Given the description of an element on the screen output the (x, y) to click on. 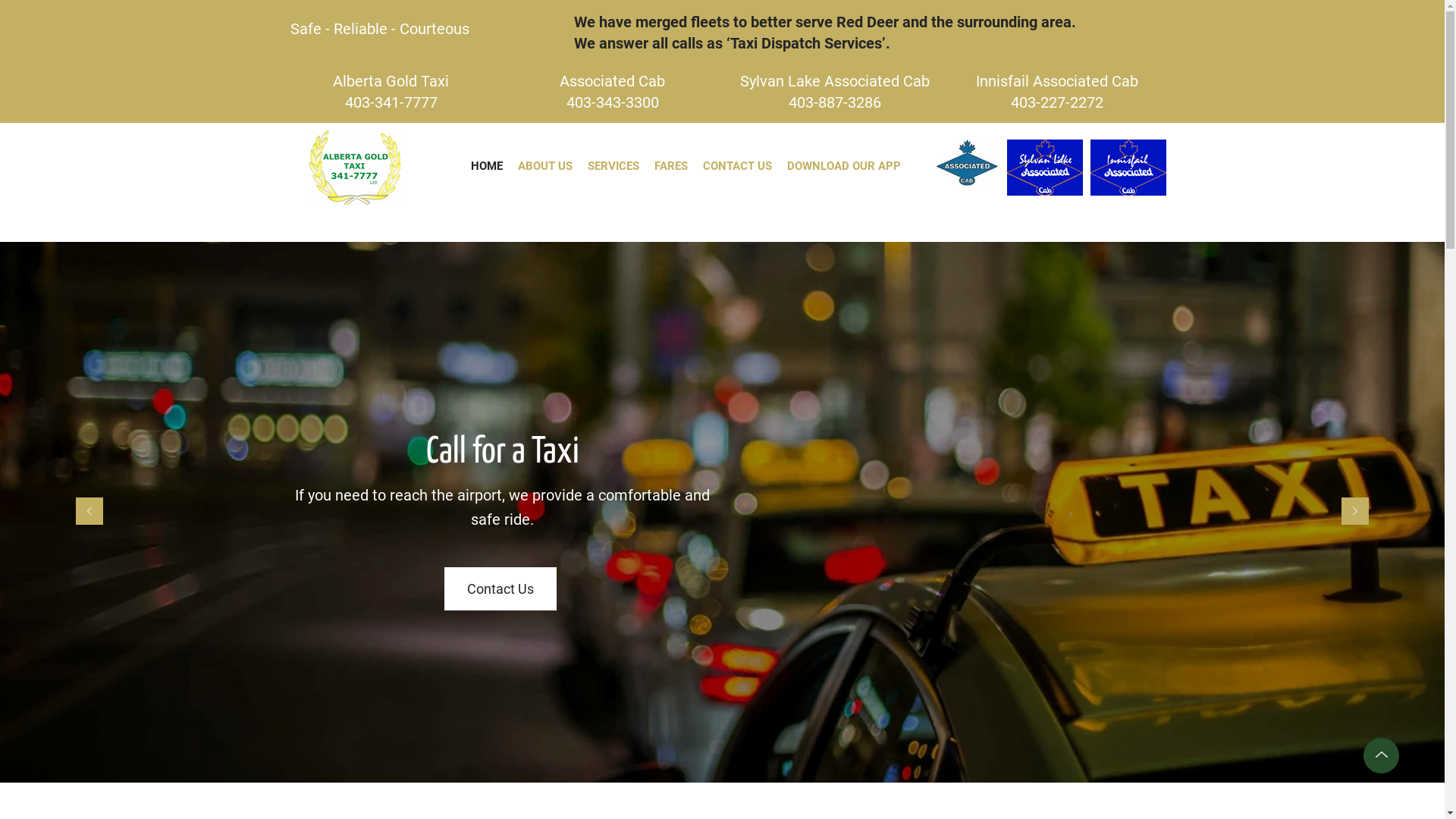
Associated Cab Element type: text (612, 81)
SERVICES Element type: text (612, 166)
403-343-3300 Element type: text (611, 102)
HOME Element type: text (486, 166)
DOWNLOAD OUR APP Element type: text (843, 166)
ABOUT US Element type: text (544, 166)
FARES Element type: text (670, 166)
403-887-3286 Element type: text (834, 102)
403-341-7777 Element type: text (390, 102)
Sylvan Lake Associated Cab Element type: text (834, 81)
Contact Us Element type: text (500, 588)
Innisfail Associated Cab Element type: text (1056, 81)
403-227-2272 Element type: text (1056, 102)
CONTACT US Element type: text (736, 166)
